Given the description of an element on the screen output the (x, y) to click on. 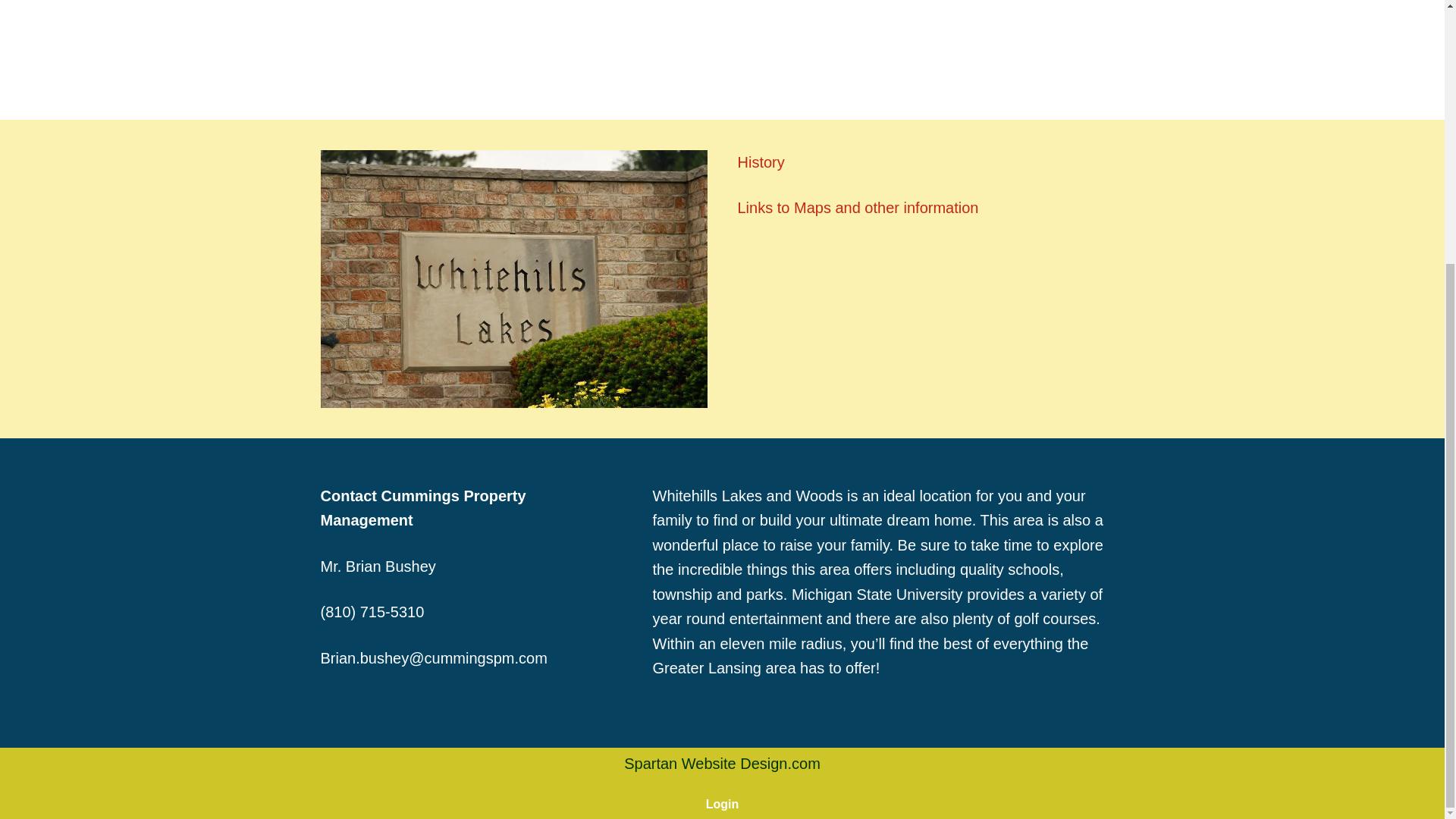
Login (722, 803)
Spartan Website Design.com (722, 763)
White-Hills-Lakes-132 (513, 278)
Links to Maps and other information (857, 207)
History (760, 161)
